Given the description of an element on the screen output the (x, y) to click on. 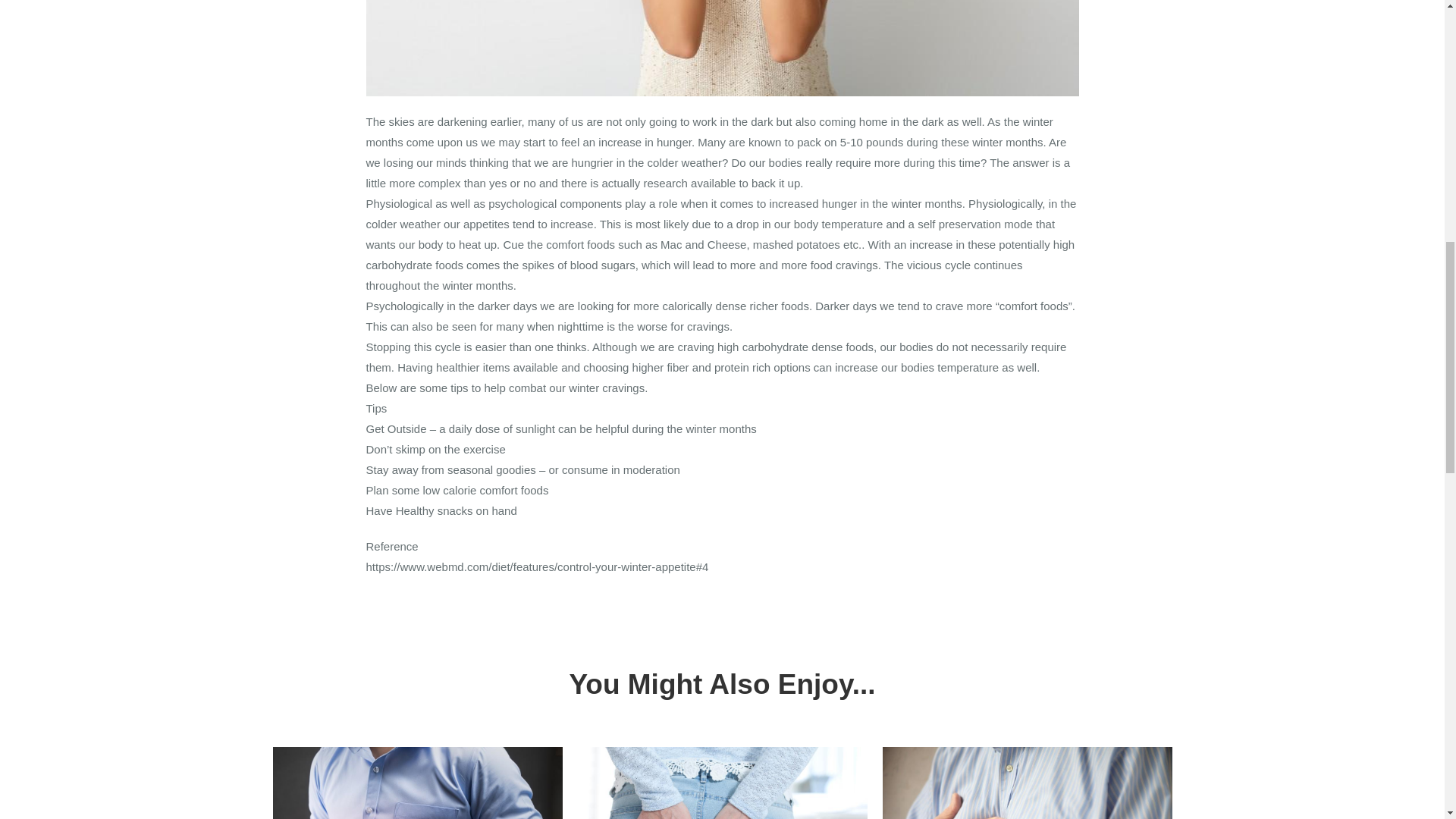
At-Home Tips to Alleviate Acid Reflux (417, 782)
When Is Acid Reflux a Serious Problem? (1027, 782)
